Given the description of an element on the screen output the (x, y) to click on. 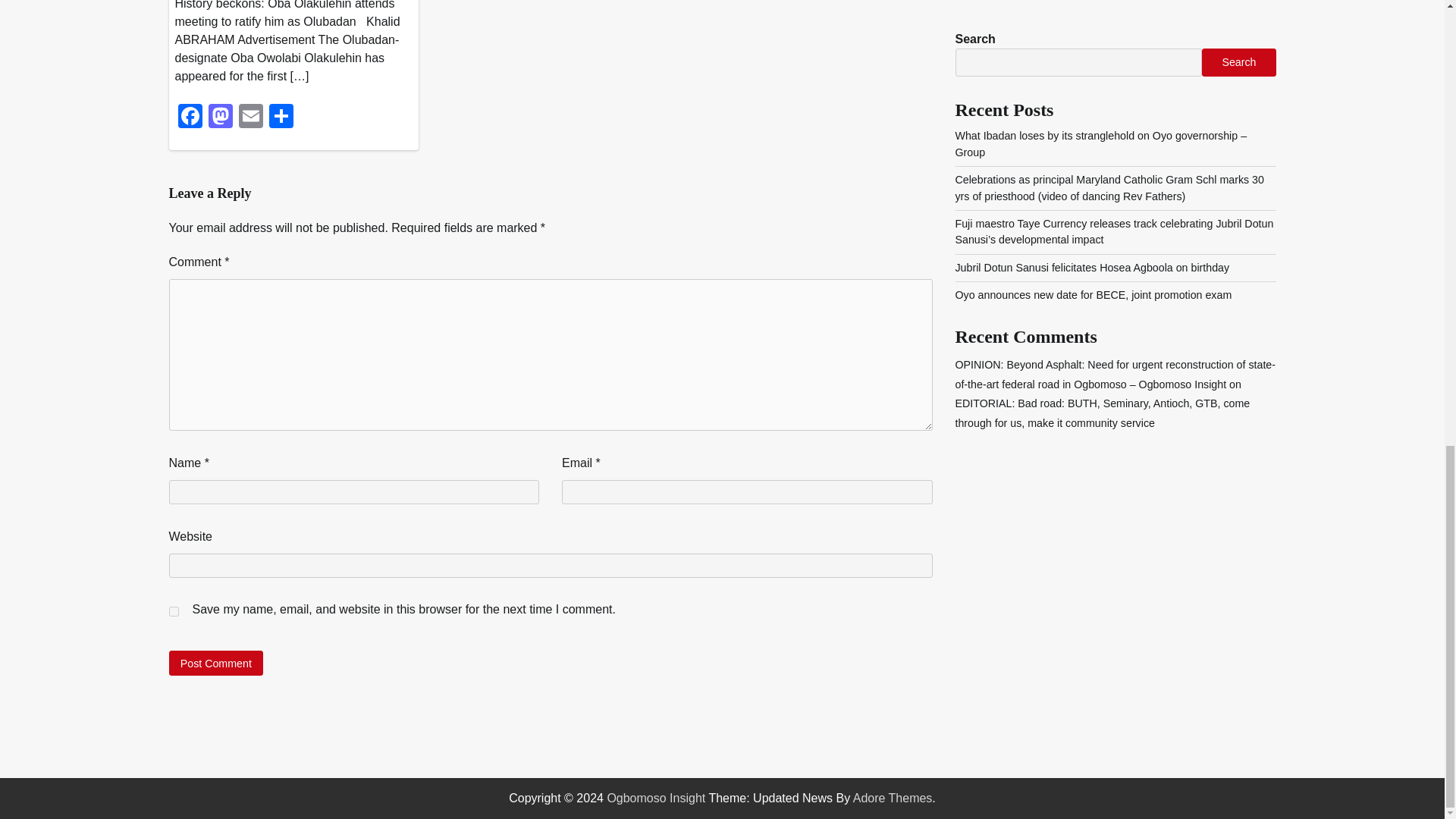
Mastodon (219, 117)
Facebook (189, 117)
Post Comment (215, 662)
Post Comment (215, 662)
Facebook (189, 117)
Email (249, 117)
Mastodon (219, 117)
yes (172, 611)
Email (249, 117)
